Given the description of an element on the screen output the (x, y) to click on. 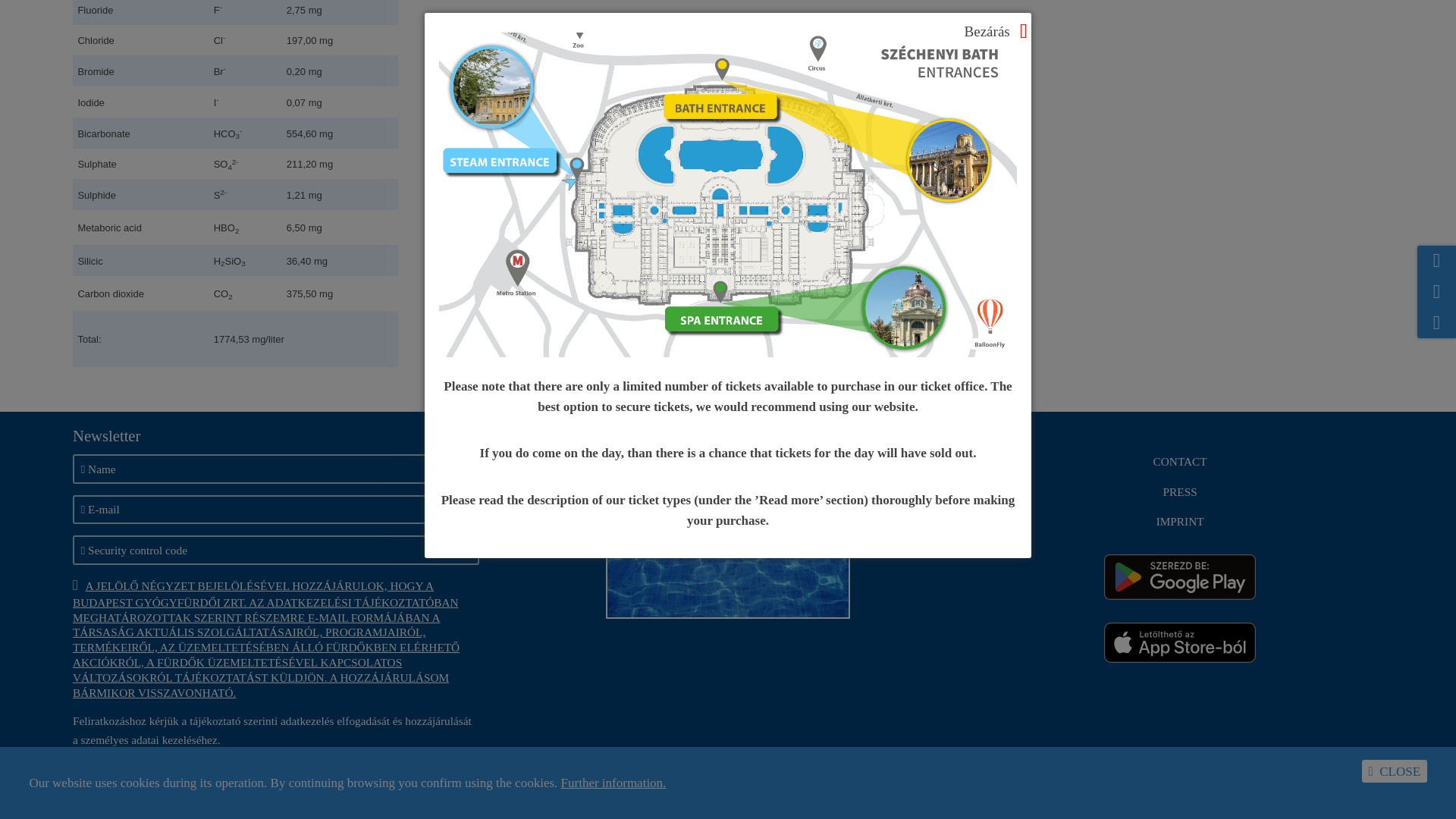
1 (436, 774)
